Given the description of an element on the screen output the (x, y) to click on. 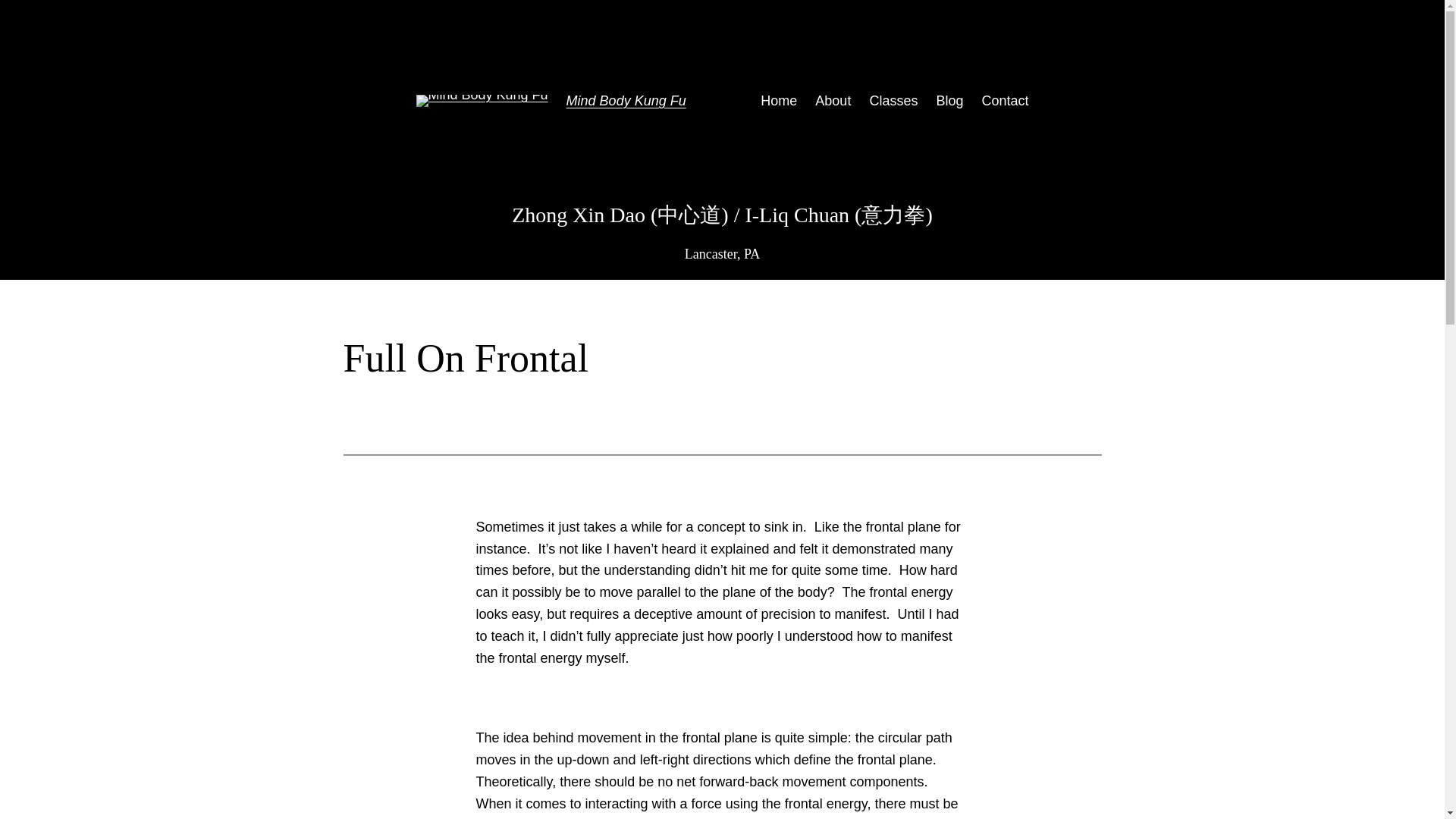
Blog (949, 100)
Home (778, 100)
Classes (893, 100)
About (832, 100)
Contact (1004, 100)
Mind Body Kung Fu (625, 99)
